Given the description of an element on the screen output the (x, y) to click on. 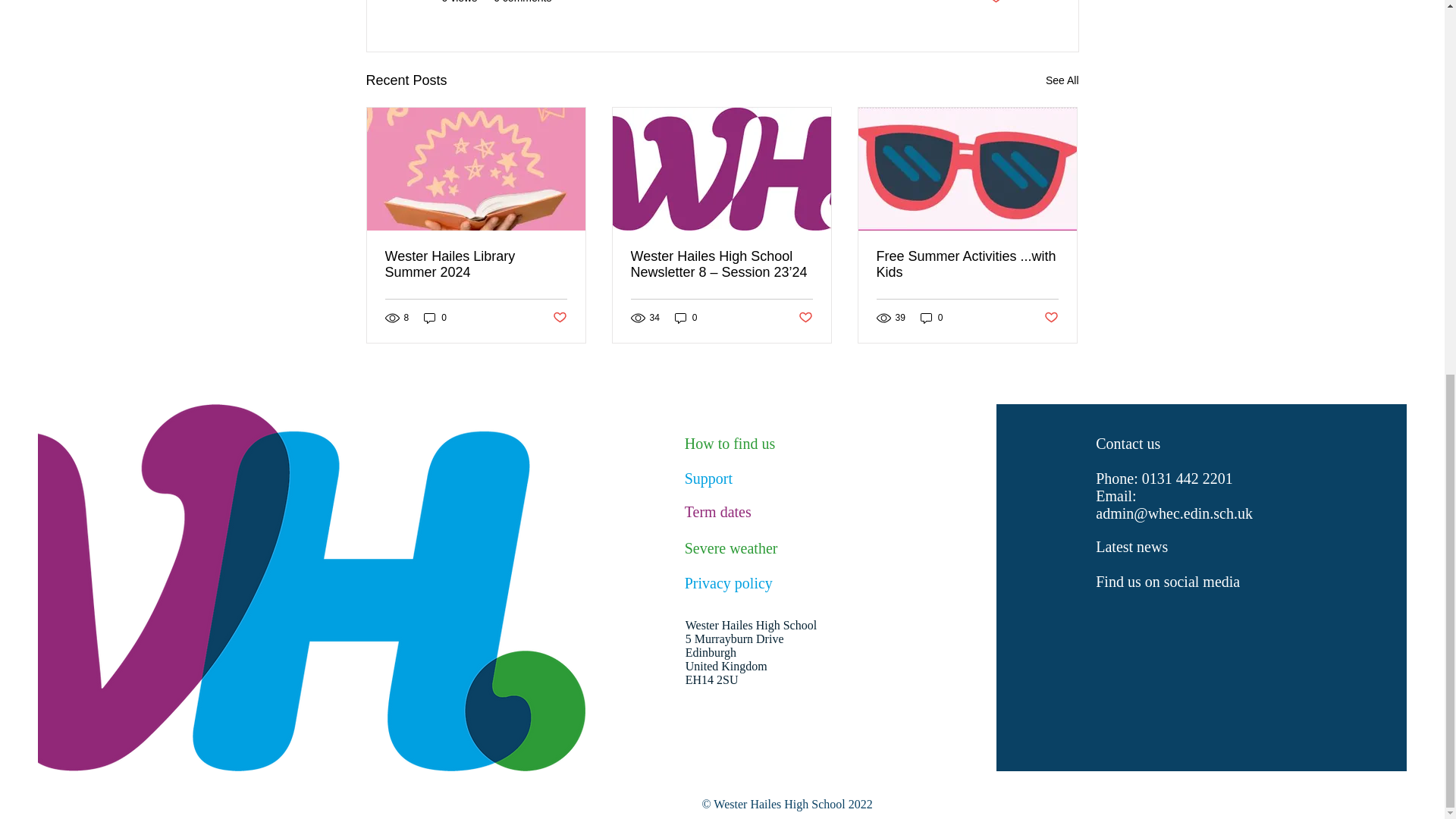
How to find us (729, 443)
Free Summer Activities ...with Kids (967, 264)
Term dates (717, 511)
Privacy policy (728, 582)
0 (435, 317)
Post not marked as liked (558, 317)
Wester Hailes Library Summer 2024 (476, 264)
Post not marked as liked (1050, 317)
See All (1061, 80)
Support (708, 478)
Contact us (1128, 443)
Latest news (1131, 546)
Post not marked as liked (995, 2)
0 (931, 317)
Post not marked as liked (804, 317)
